Given the description of an element on the screen output the (x, y) to click on. 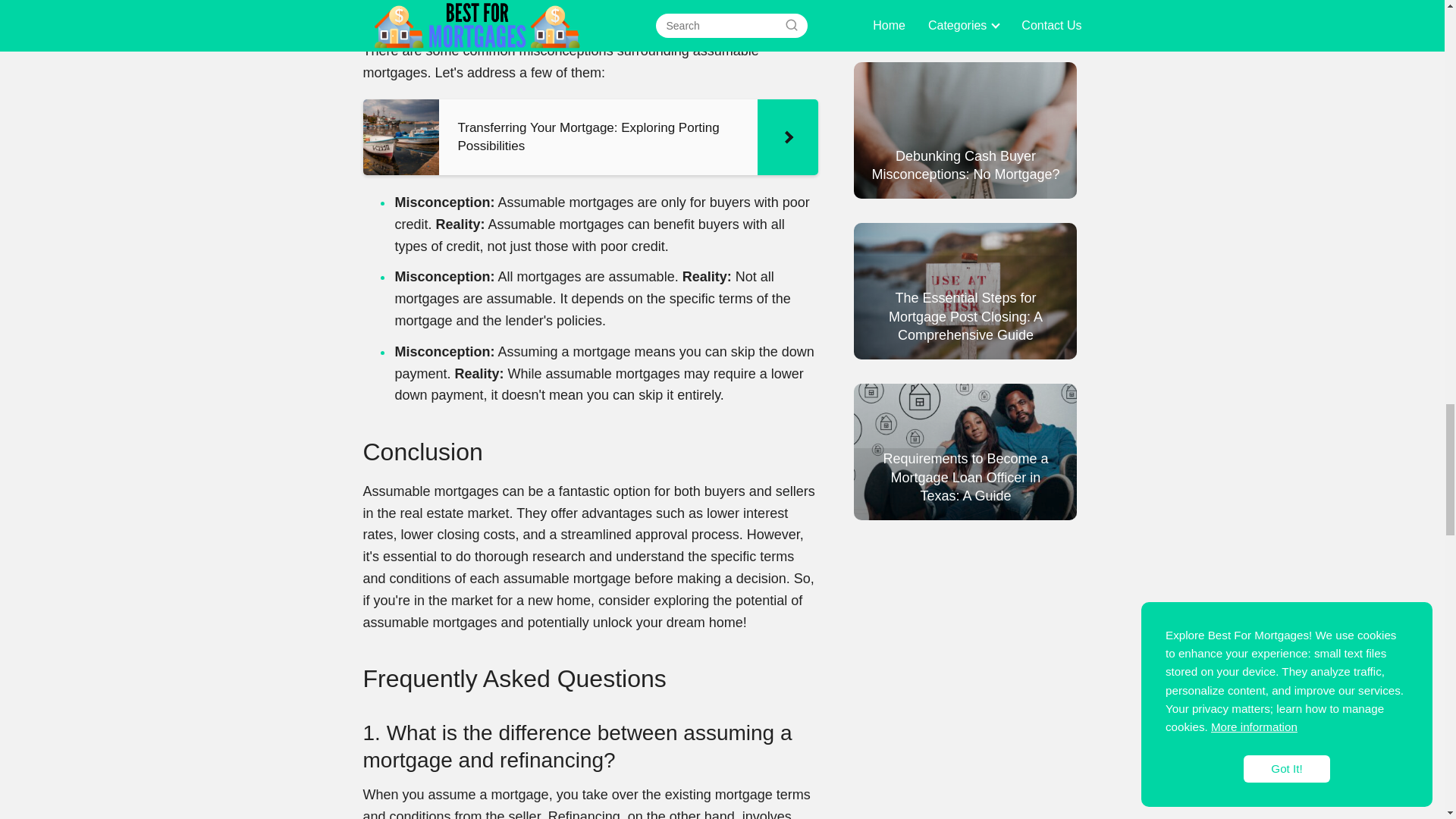
Transferring Your Mortgage: Exploring Porting Possibilities (590, 137)
